Given the description of an element on the screen output the (x, y) to click on. 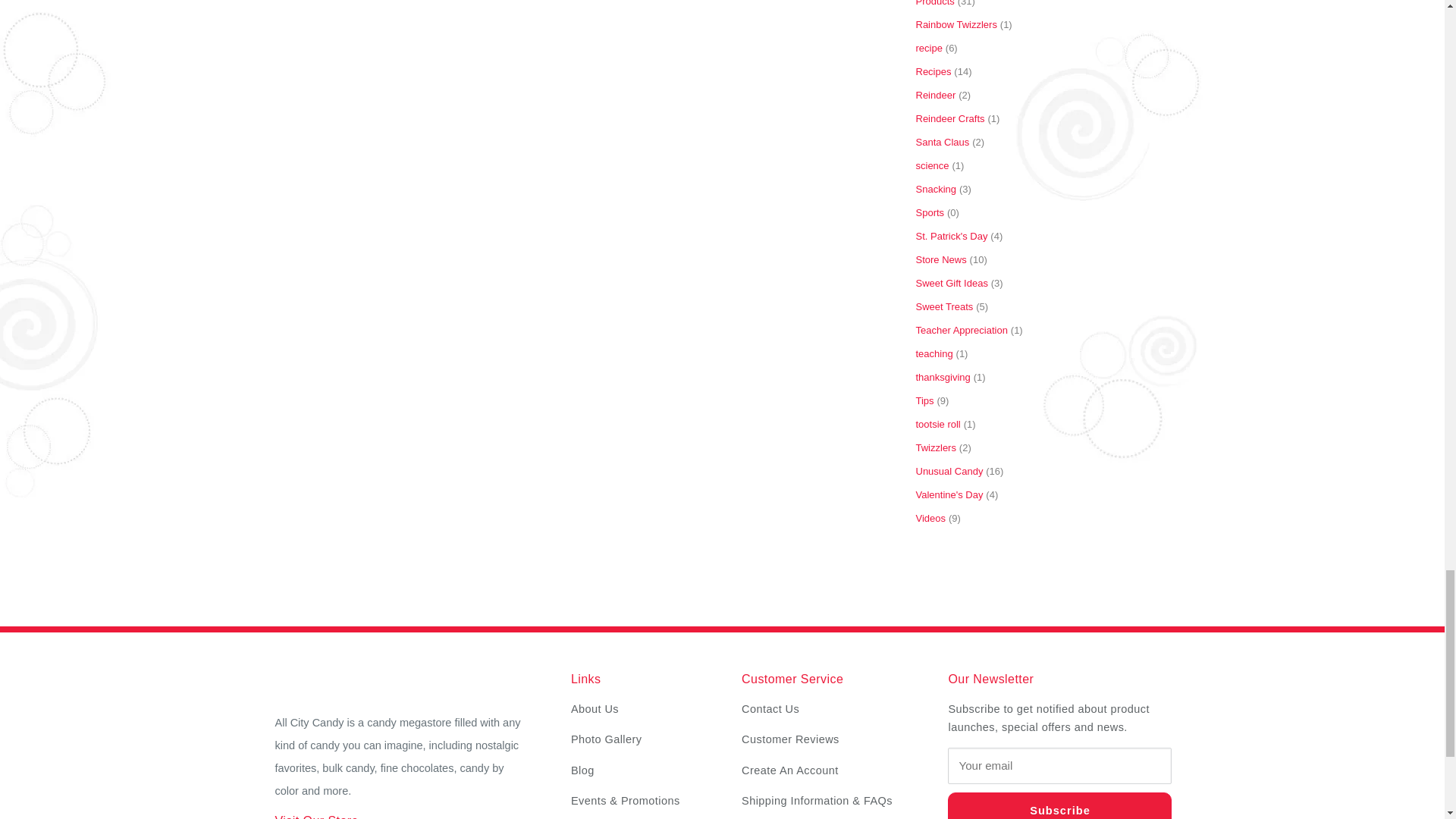
Subscribe (1059, 805)
